Given the description of an element on the screen output the (x, y) to click on. 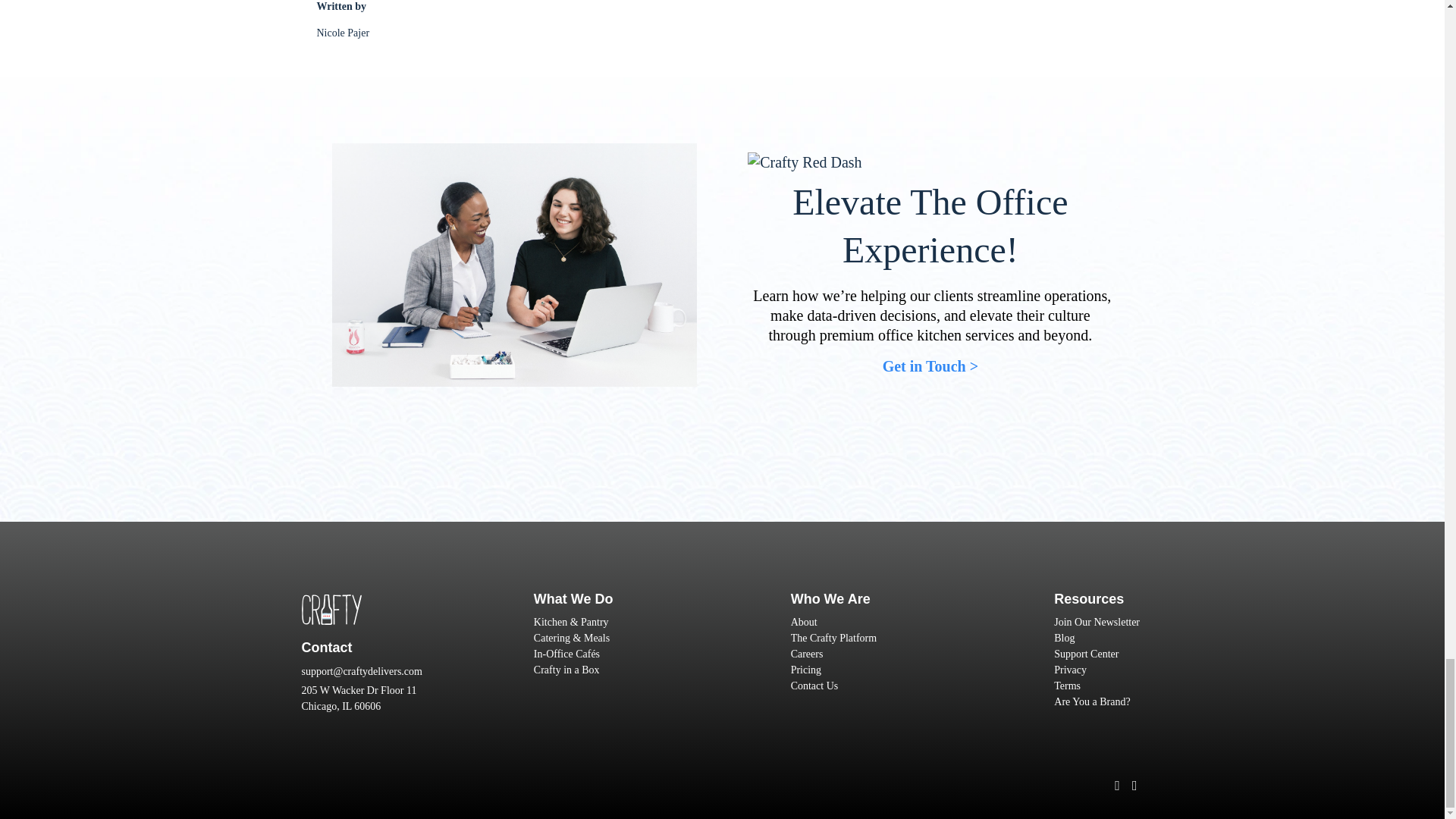
Crafty Red Dash (804, 161)
the office experience strategies for 2023 (514, 264)
vast.png (331, 609)
